Given the description of an element on the screen output the (x, y) to click on. 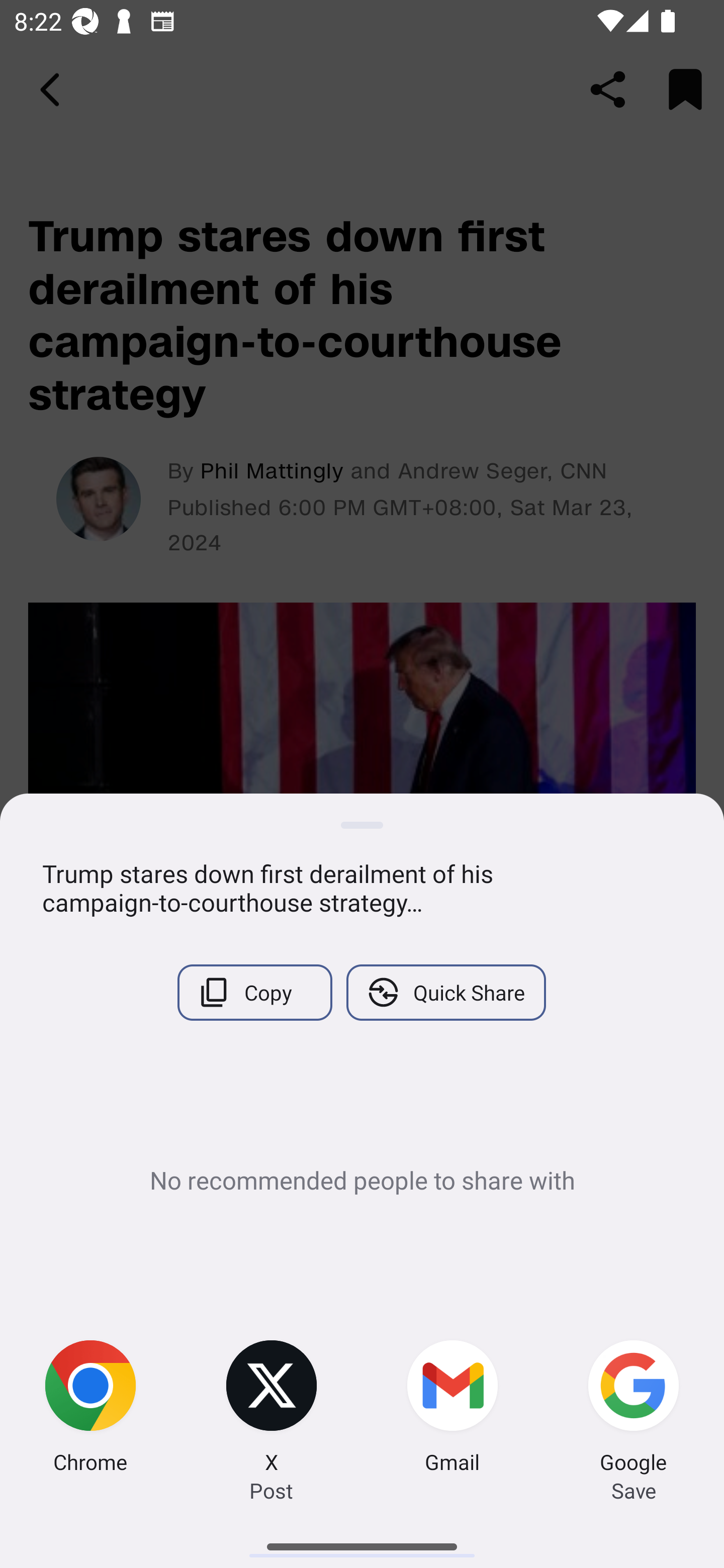
Copy (254, 992)
Quick Share (445, 992)
Chrome (90, 1409)
X Post (271, 1409)
Gmail (452, 1409)
Google Save (633, 1409)
